Given the description of an element on the screen output the (x, y) to click on. 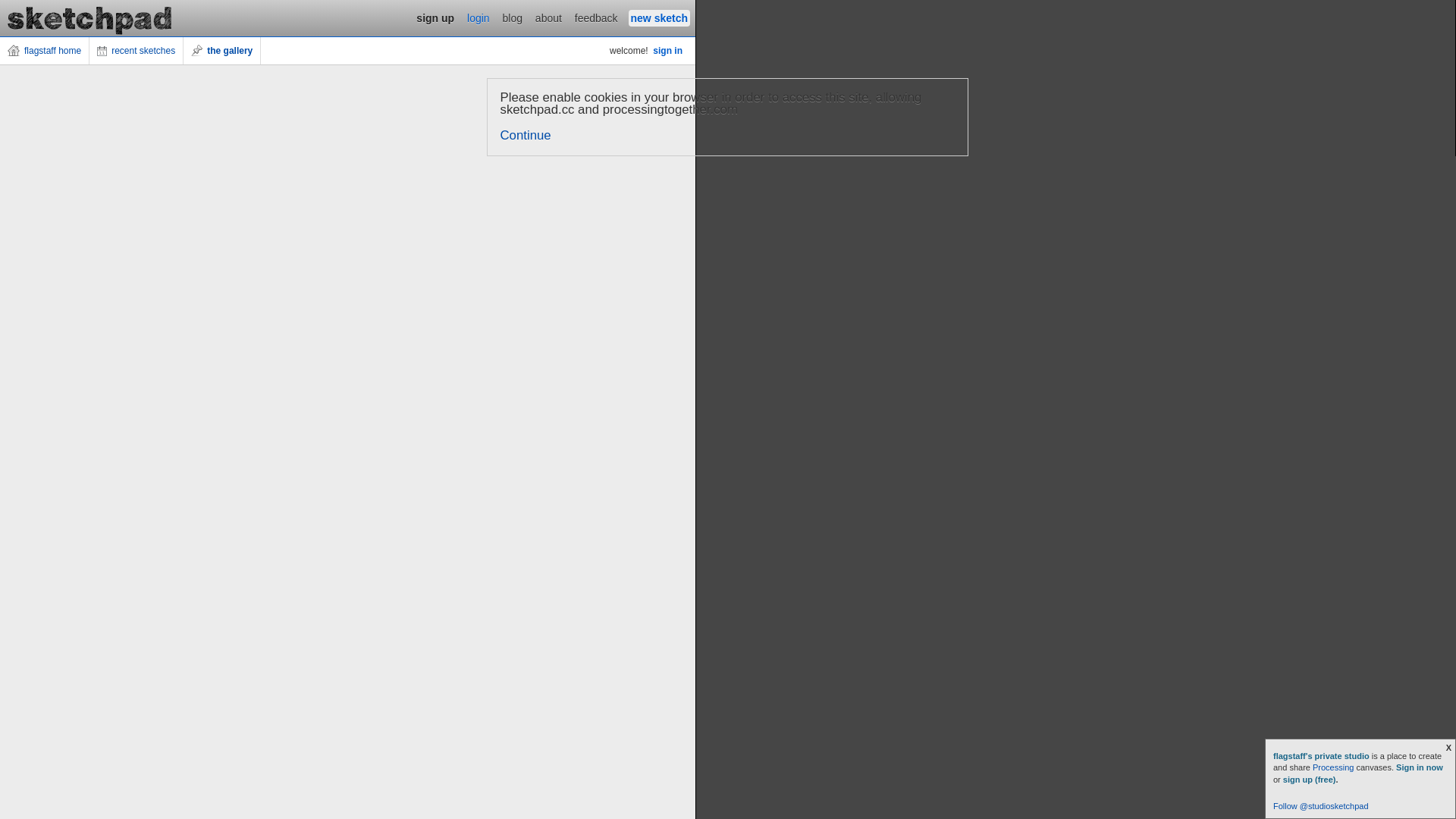
sign up Element type: text (435, 17)
sign up (free) Element type: text (1309, 779)
Studio Sketchpad is Processing on Etherpad Element type: hover (90, 18)
Continue Element type: text (525, 135)
Processing Element type: text (1332, 766)
recent sketches Element type: text (136, 50)
flagstaff's private studio Element type: text (1322, 755)
about Element type: text (548, 17)
feedback Element type: text (596, 17)
login Element type: text (478, 17)
the gallery Element type: text (221, 50)
Sign in now Element type: text (1419, 766)
Follow @studiosketchpad Element type: text (1320, 805)
new sketch Element type: text (659, 17)
blog Element type: text (512, 17)
sign in Element type: text (667, 50)
flagstaff home Element type: text (44, 50)
